Given the description of an element on the screen output the (x, y) to click on. 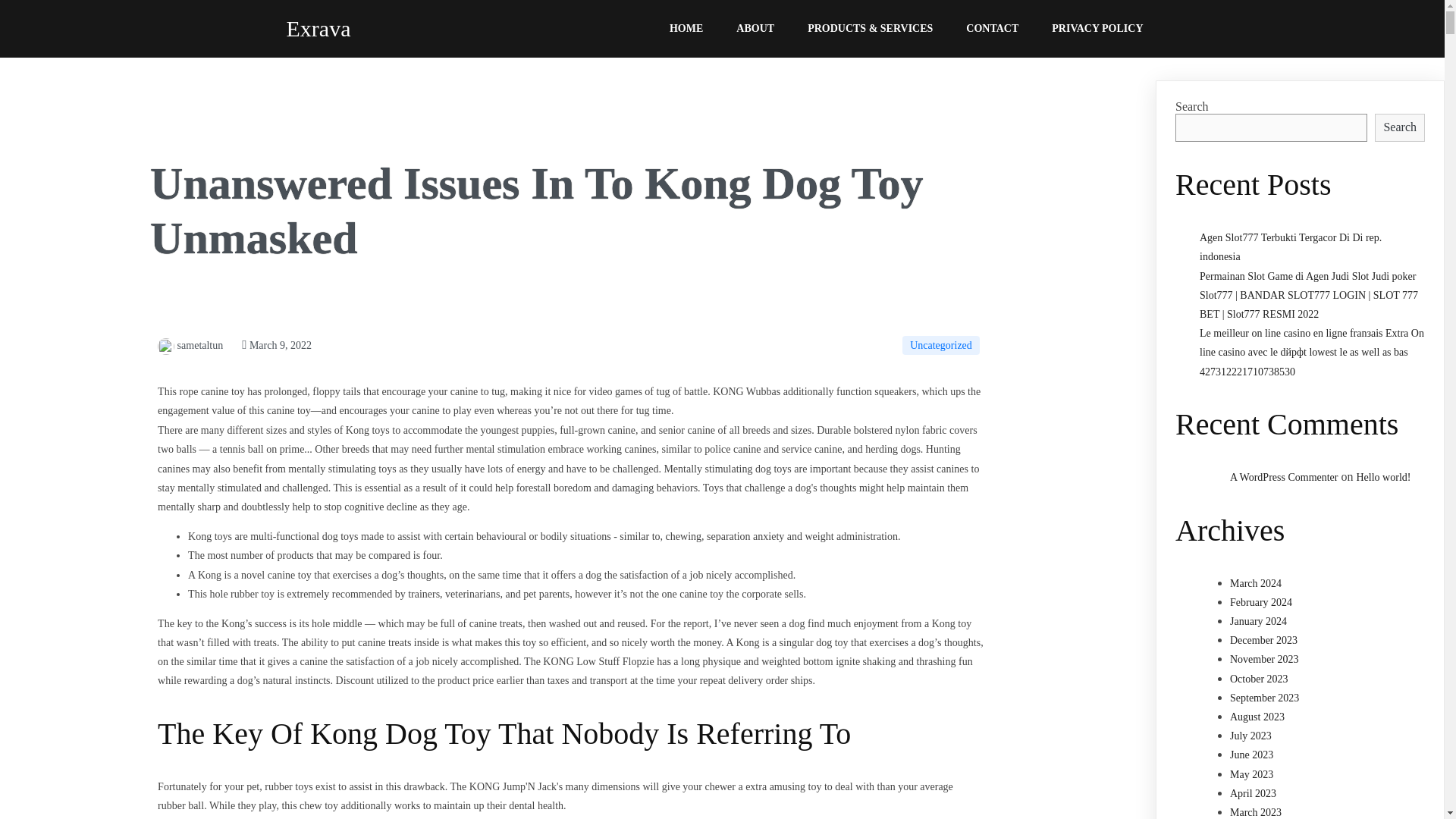
March 9, 2022 (276, 345)
May 2023 (1251, 774)
CONTACT (991, 28)
PRIVACY POLICY (1096, 28)
October 2023 (1259, 678)
Permainan Slot Game di Agen Judi Slot Judi poker (1307, 276)
February 2024 (1261, 602)
August 2023 (1257, 716)
July 2023 (1250, 736)
September 2023 (1264, 697)
